Given the description of an element on the screen output the (x, y) to click on. 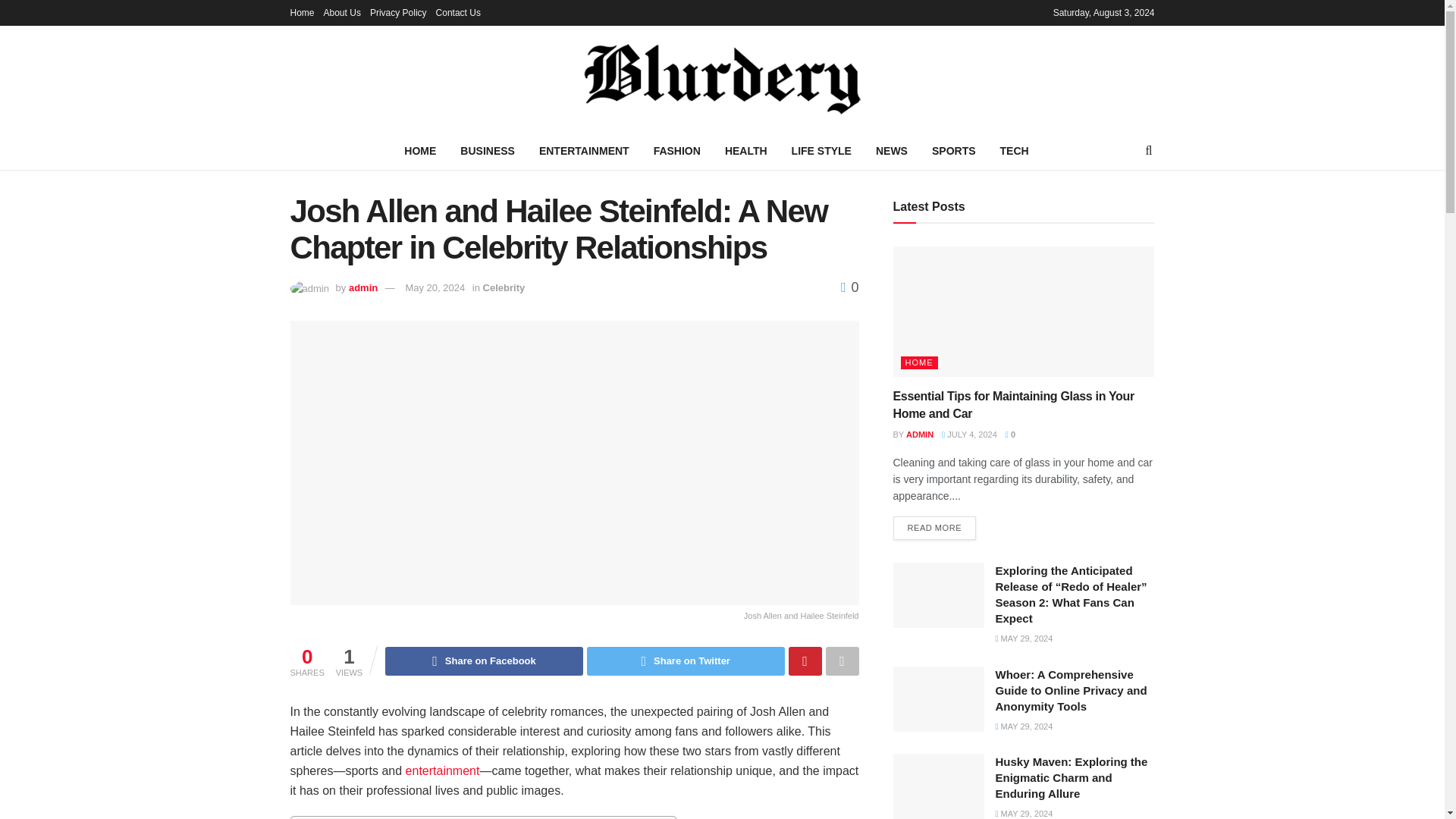
FASHION (677, 150)
HOME (419, 150)
Celebrity (504, 287)
LIFE STYLE (820, 150)
0 (850, 287)
SPORTS (954, 150)
Contact Us (457, 12)
Home (301, 12)
ENTERTAINMENT (584, 150)
TECH (1014, 150)
admin (363, 287)
Share on Facebook (484, 661)
About Us (342, 12)
Share on Twitter (685, 661)
